Given the description of an element on the screen output the (x, y) to click on. 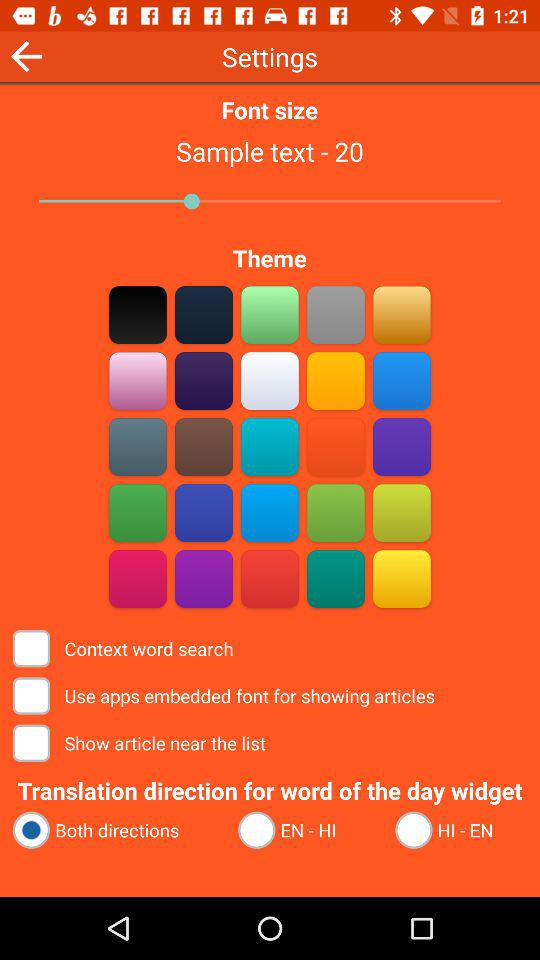
select blue color (269, 512)
